Given the description of an element on the screen output the (x, y) to click on. 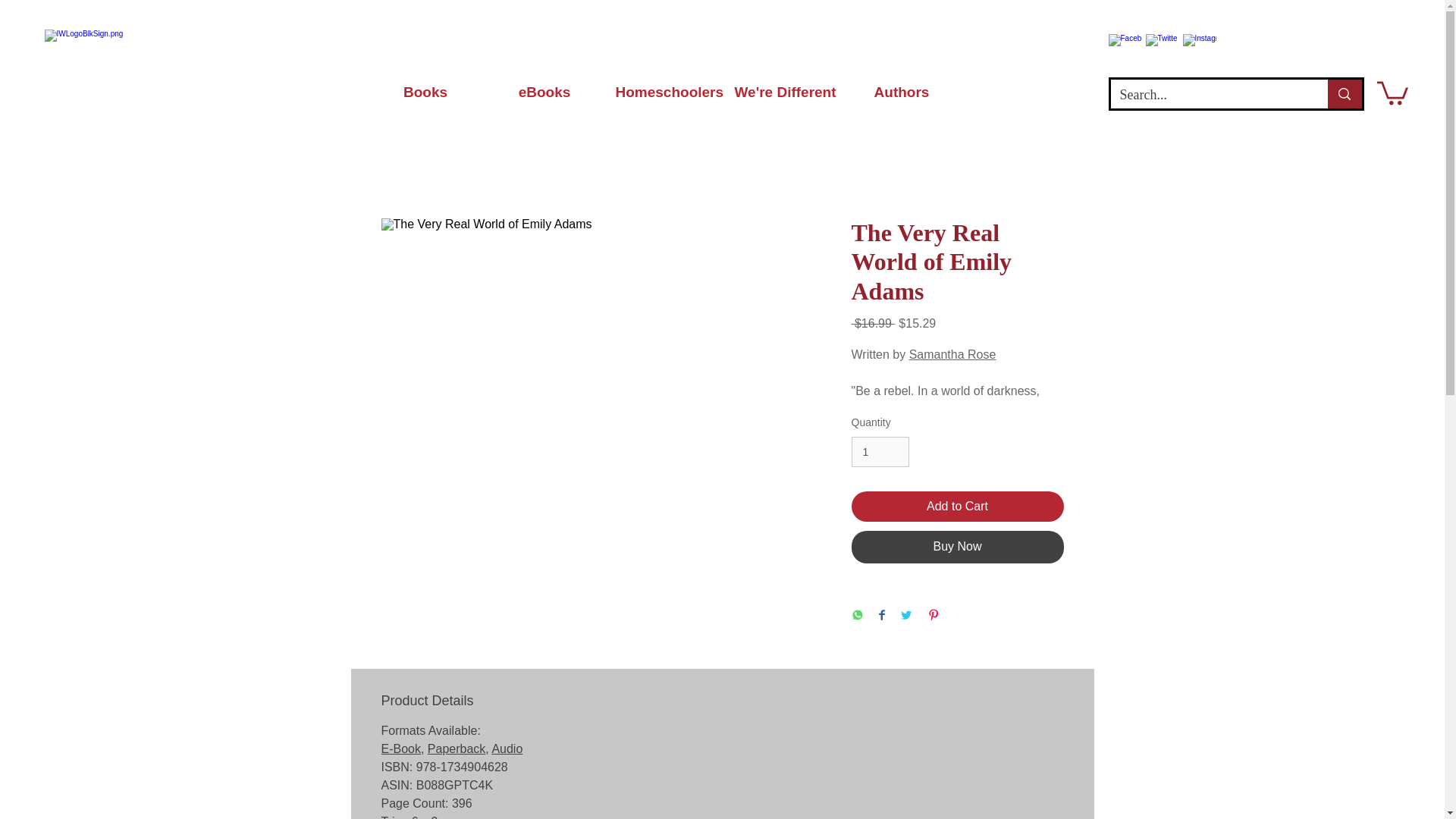
We're Different (783, 91)
Add to Cart (956, 506)
E-Book (400, 748)
1 (879, 451)
Books (424, 91)
Paperback (457, 748)
Buy Now (956, 546)
Homeschoolers (663, 91)
Samantha Rose (951, 354)
Authors (900, 91)
